Given the description of an element on the screen output the (x, y) to click on. 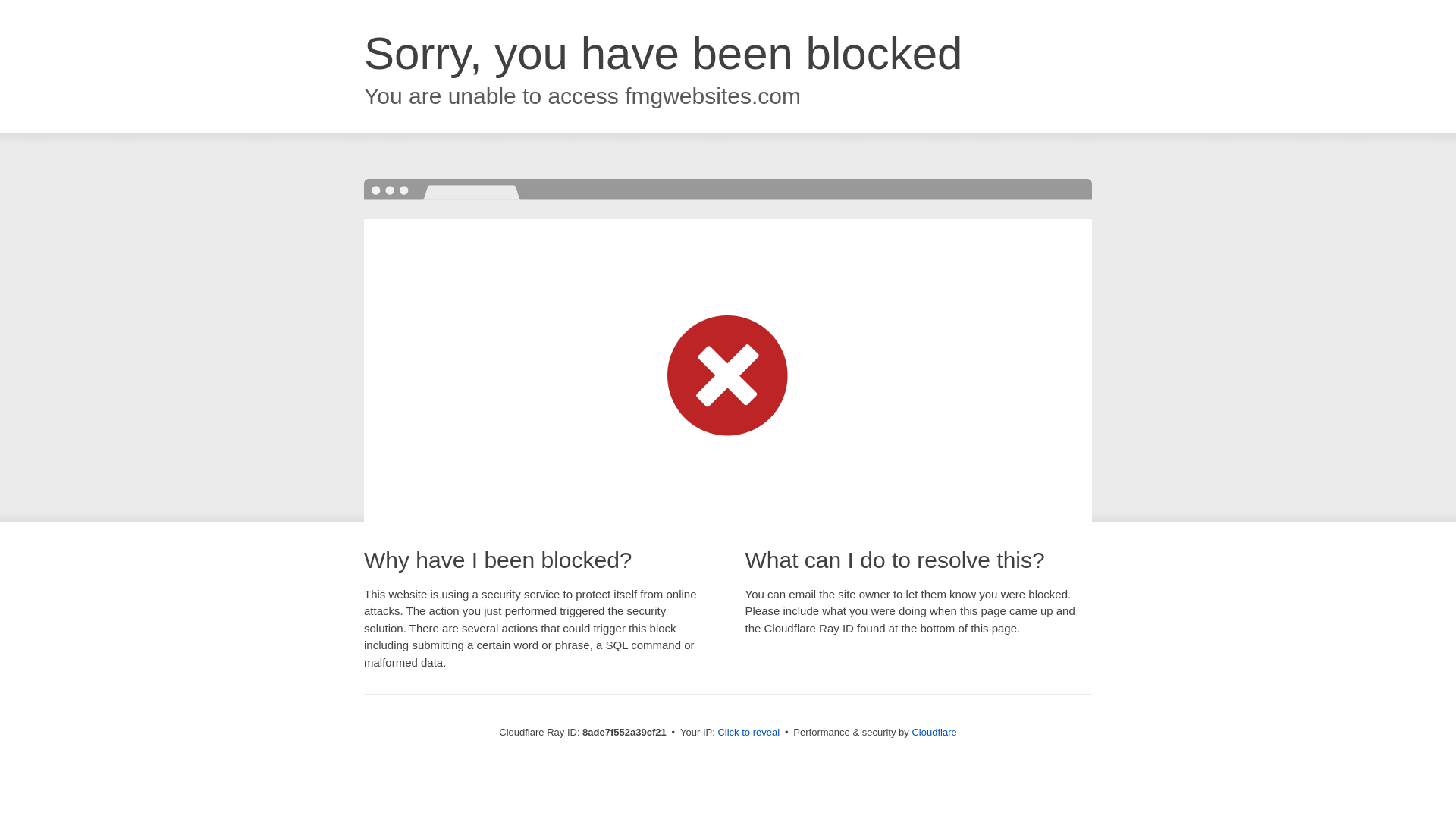
Cloudflare (933, 731)
Click to reveal (747, 732)
